Given the description of an element on the screen output the (x, y) to click on. 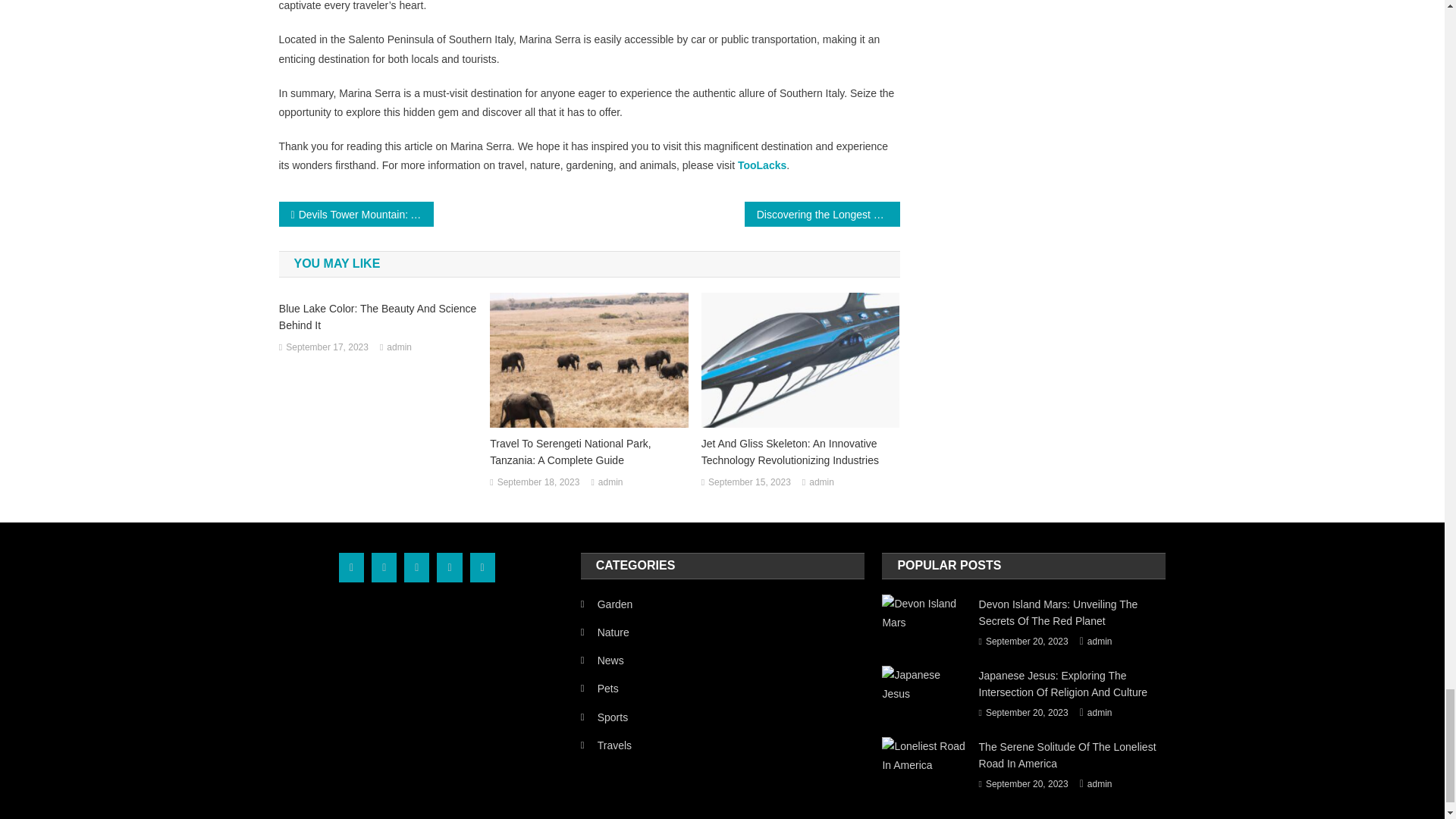
admin (610, 483)
September 15, 2023 (748, 483)
Devils Tower Mountain: A Natural Wonder and Cultural Icon (356, 213)
admin (399, 347)
admin (821, 483)
Blue Lake Color: The Beauty And Science Behind It (378, 316)
September 17, 2023 (326, 347)
TooLacks (762, 164)
September 18, 2023 (538, 483)
